Given the description of an element on the screen output the (x, y) to click on. 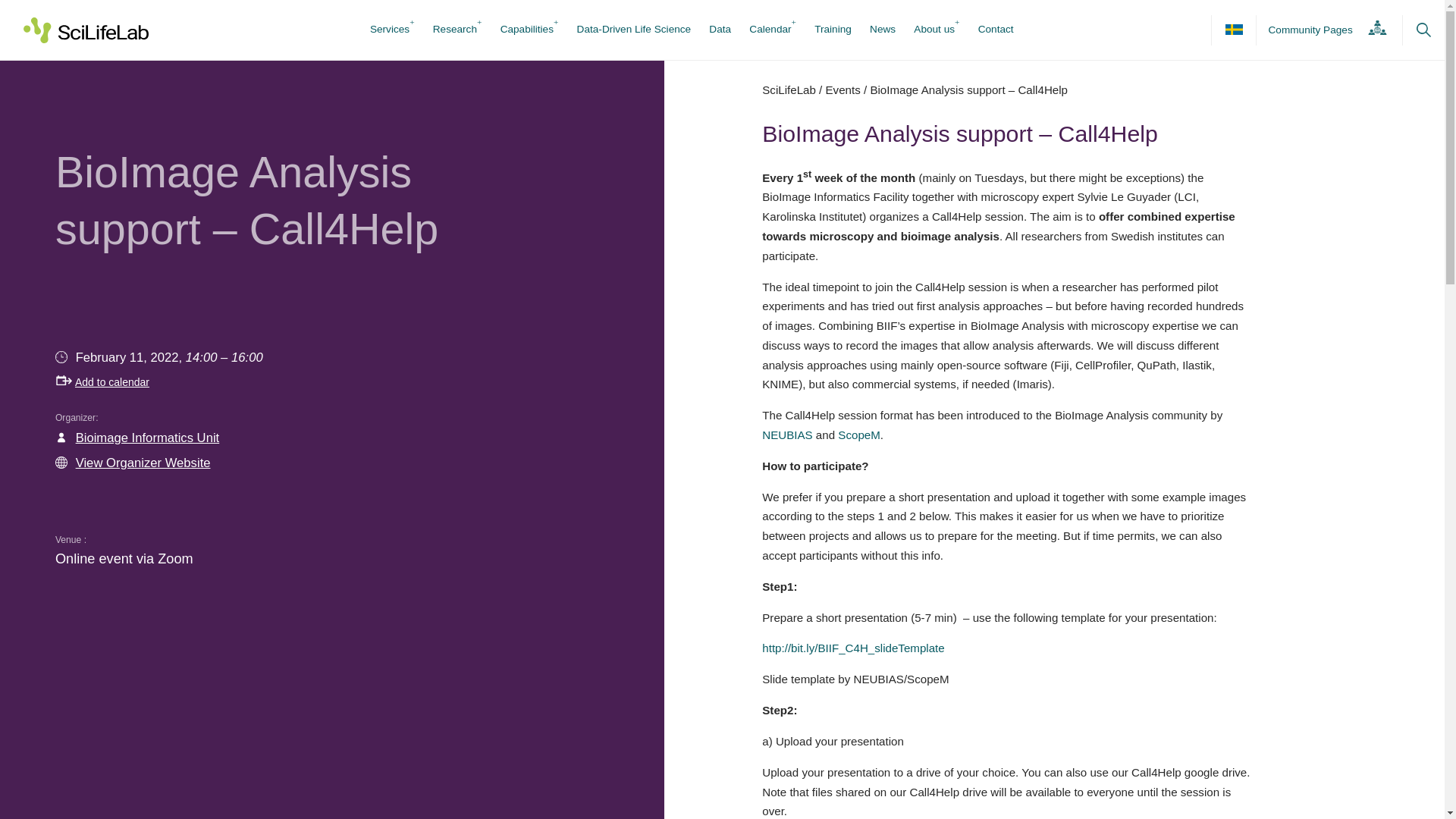
Community Pages (1323, 30)
Bioimage Informatics Unit (147, 437)
Go to Events. (842, 89)
2022-02-11 (130, 357)
Add to calendar (102, 381)
ScopeM (859, 434)
Data-Driven Life Science (633, 29)
Capabilities (526, 29)
Community pages (1323, 30)
SciLifeLab (788, 89)
